Given the description of an element on the screen output the (x, y) to click on. 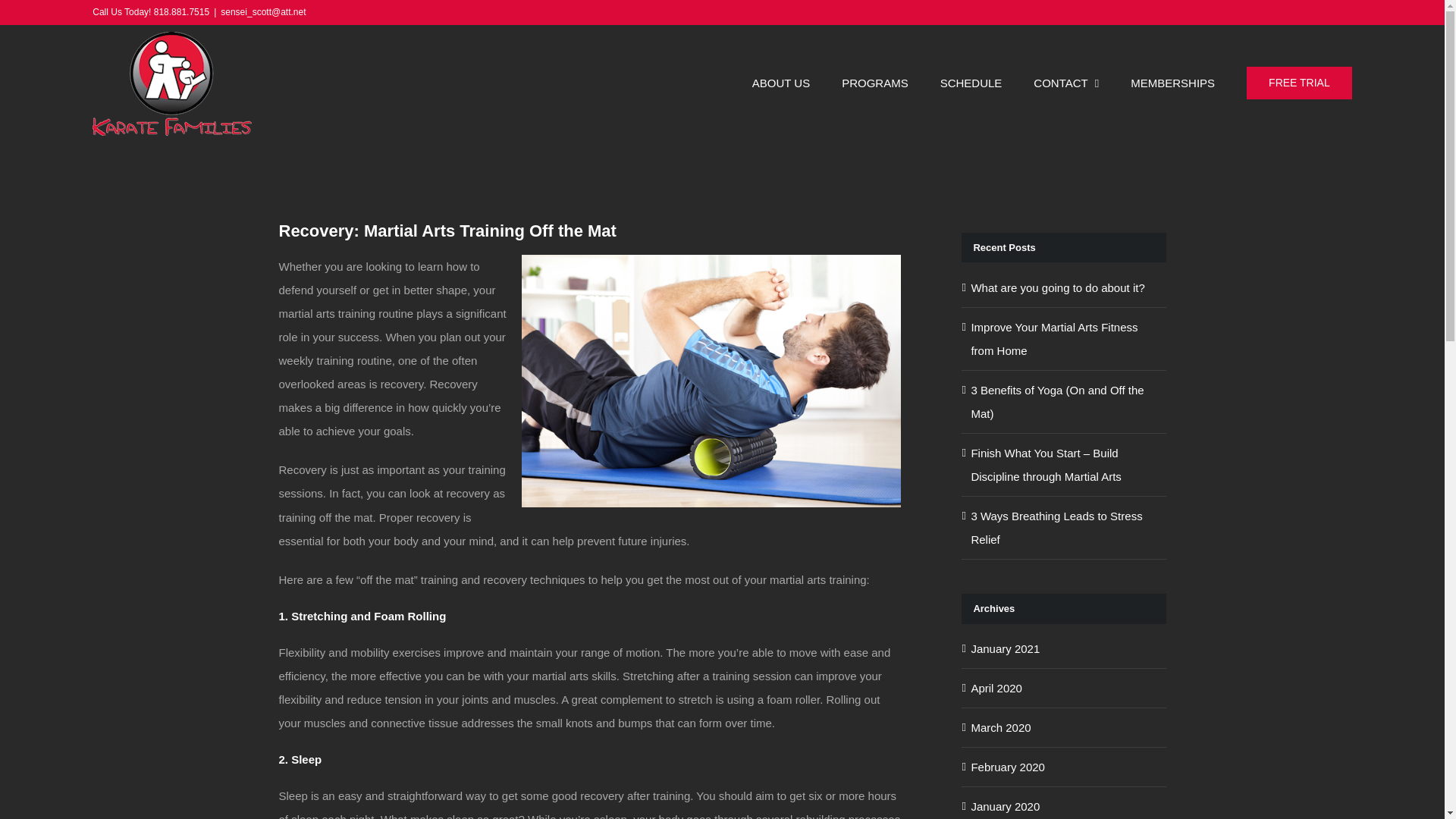
818.881.7515 (181, 11)
FREE TRIAL (1299, 82)
